Given the description of an element on the screen output the (x, y) to click on. 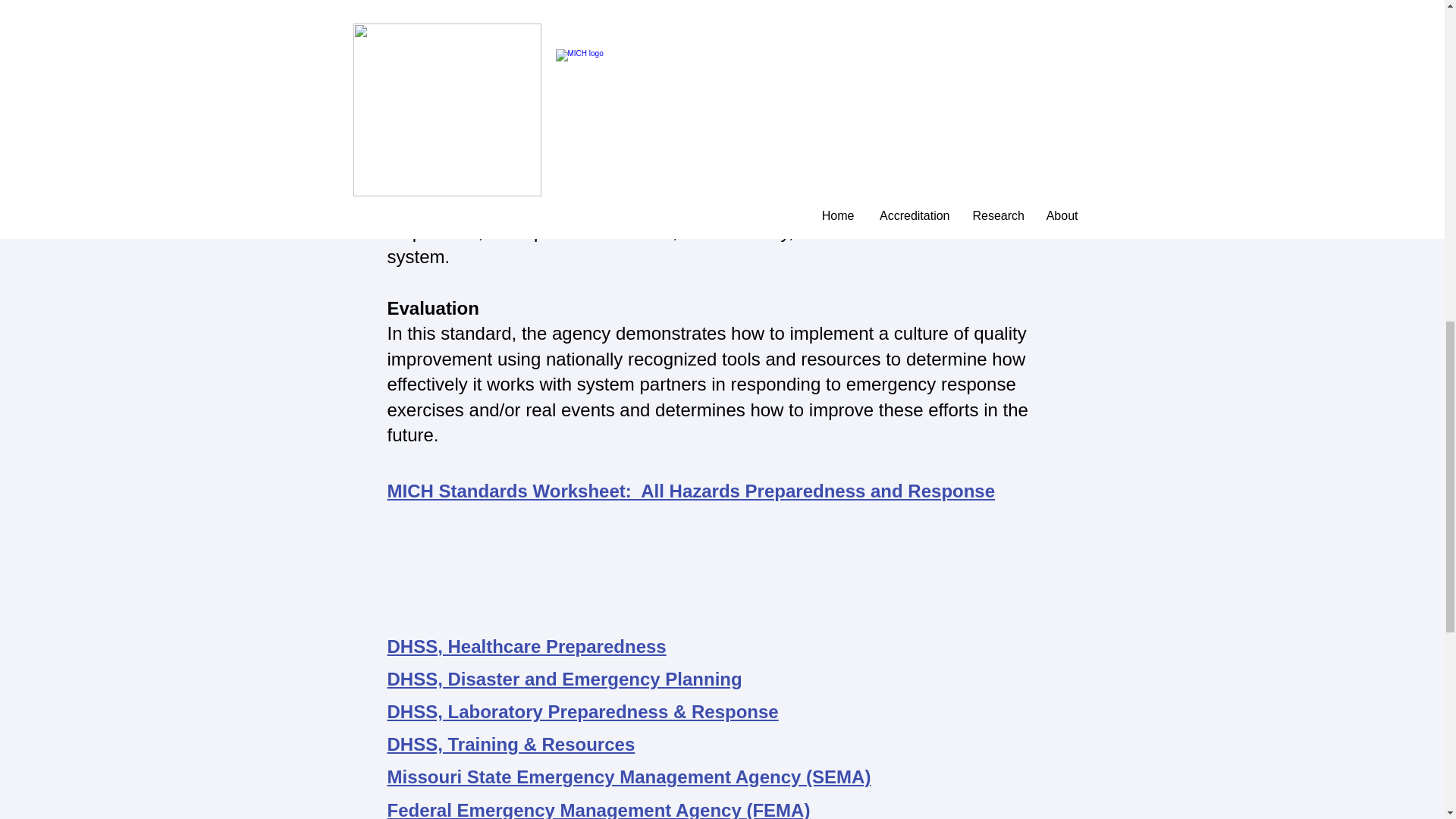
DHSS, Disaster and Emergency Planning (564, 679)
DHSS, Healthcare Preparedness (526, 646)
